Given the description of an element on the screen output the (x, y) to click on. 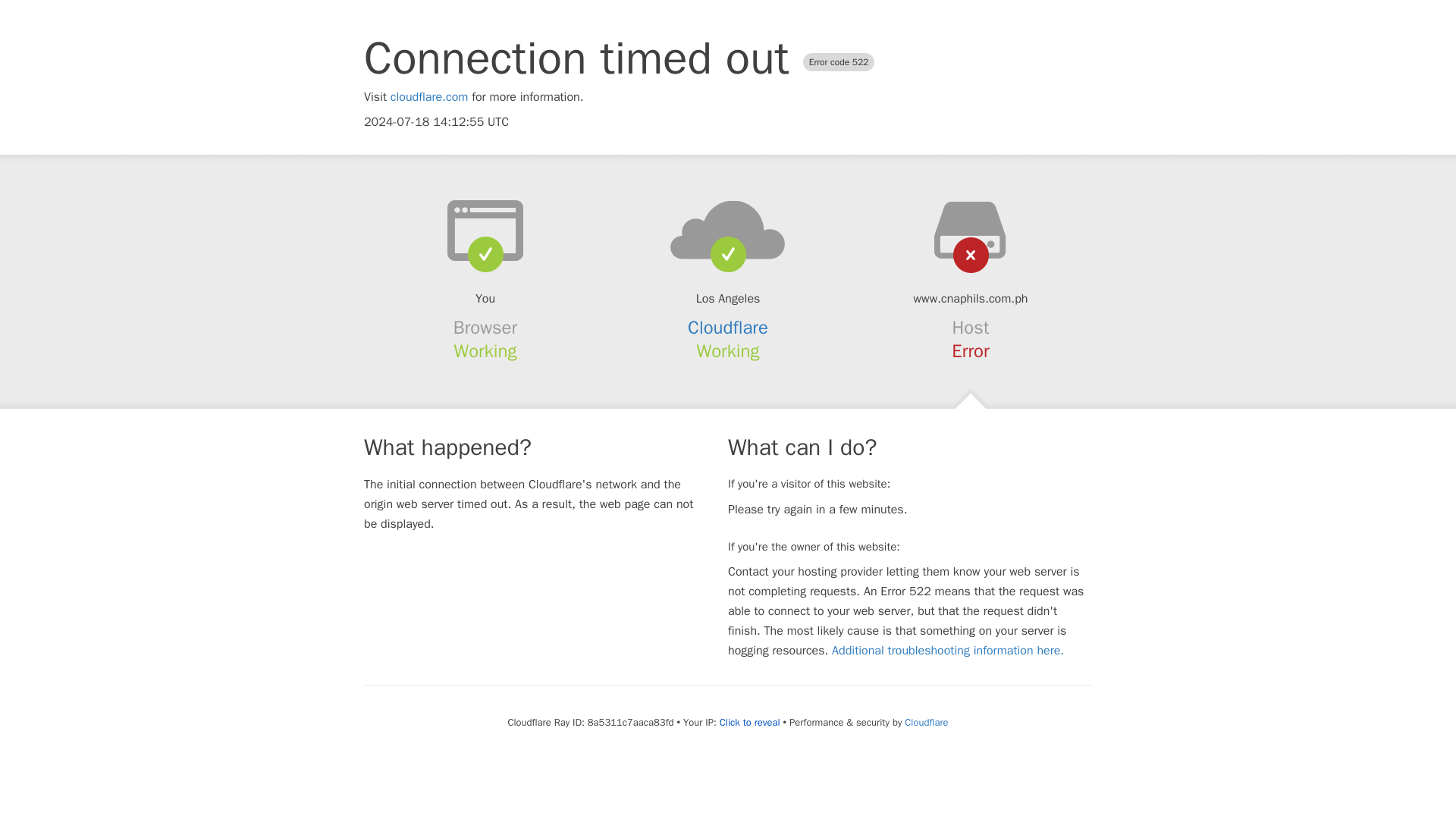
Click to reveal (749, 722)
Cloudflare (925, 721)
cloudflare.com (429, 96)
Additional troubleshooting information here. (947, 650)
Cloudflare (727, 327)
